Given the description of an element on the screen output the (x, y) to click on. 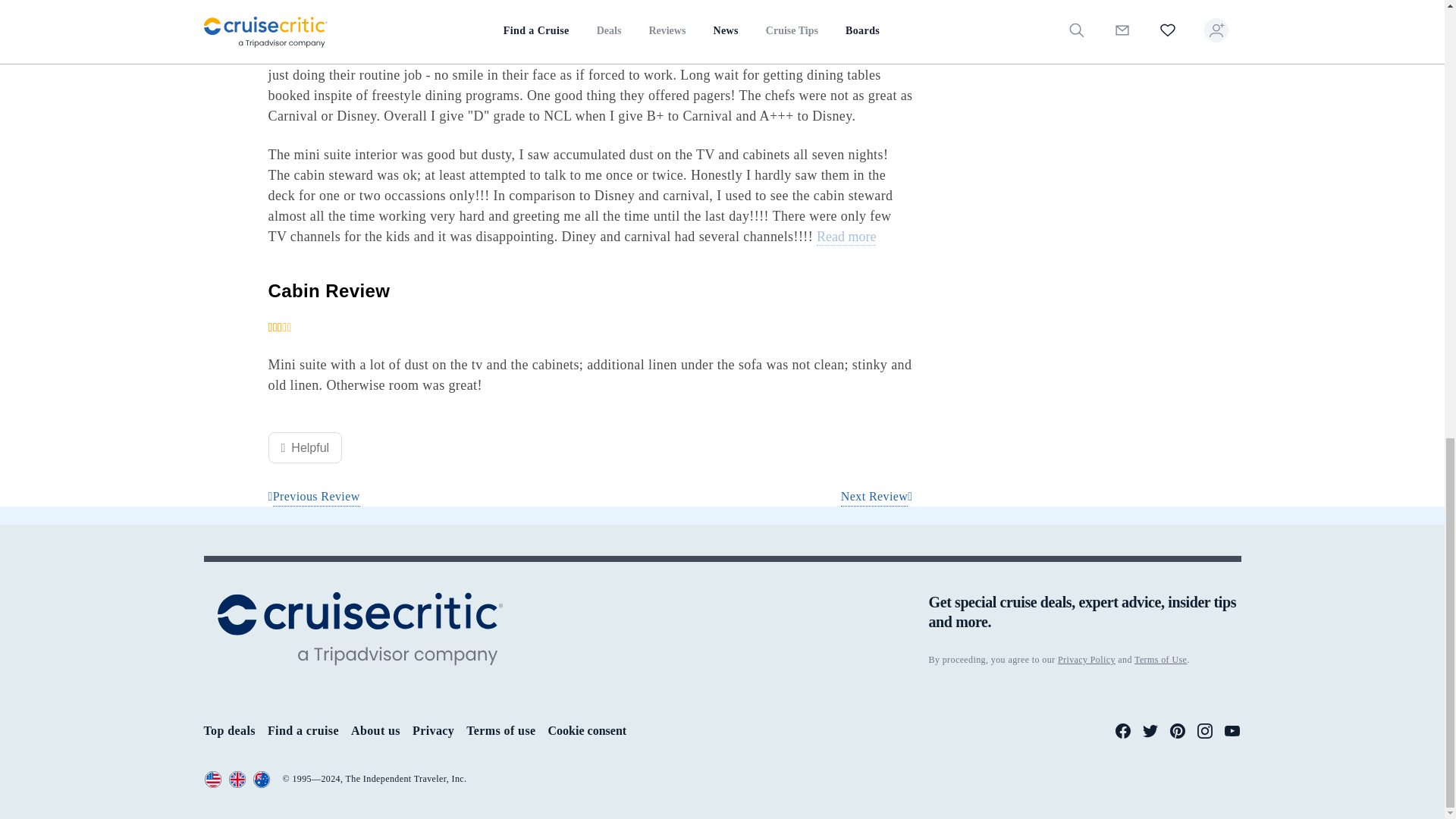
Next Review (876, 496)
Terms of use (500, 730)
Previous Review (313, 496)
Privacy Policy (1086, 659)
Privacy (433, 730)
About us (375, 730)
Read more (846, 237)
Helpful (304, 447)
Terms of Use (1160, 659)
Find a cruise (303, 730)
Top deals (228, 730)
